Given the description of an element on the screen output the (x, y) to click on. 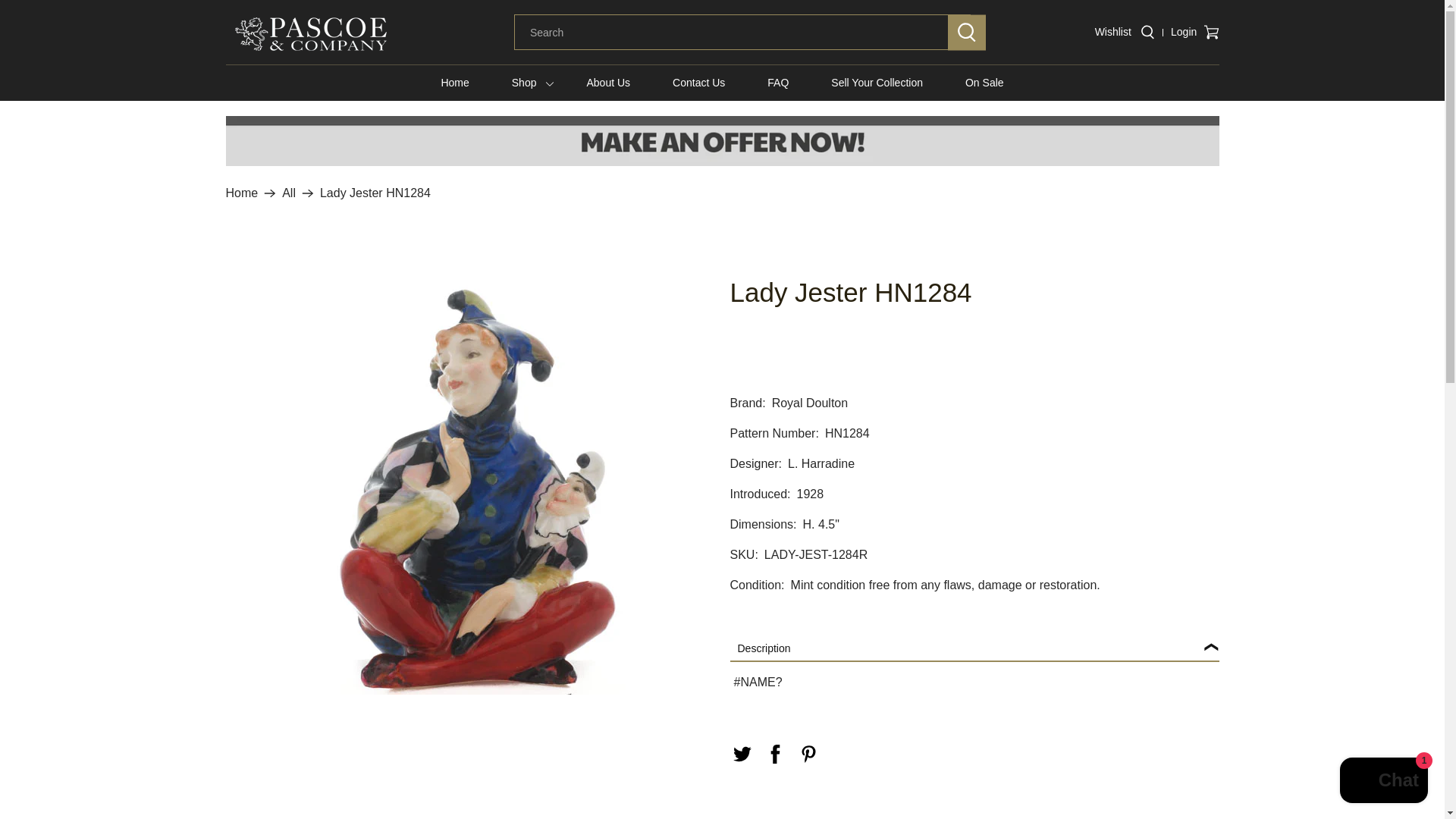
Contact Us (697, 82)
Login (1180, 32)
Share this on Facebook (774, 753)
pascoeandcompany (310, 33)
On Sale (984, 82)
Home (454, 82)
About Us (607, 82)
Share this on Twitter (741, 753)
Wishlist (1113, 31)
FAQ (777, 82)
Share this on Pinterest (808, 753)
Shop (523, 82)
Shopify online store chat (1383, 781)
Sell Your Collection (876, 82)
